Given the description of an element on the screen output the (x, y) to click on. 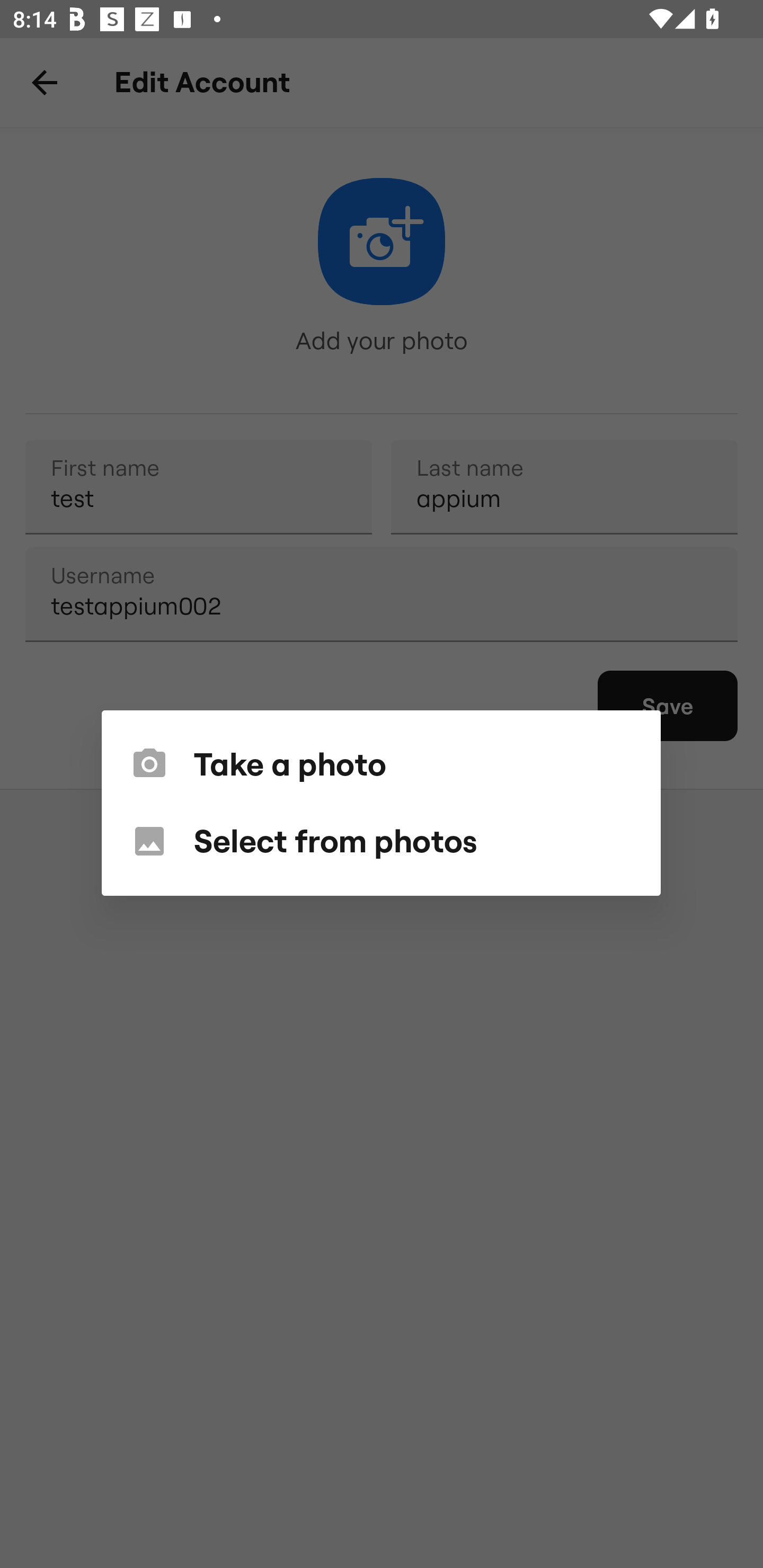
Take a photo (380, 763)
Select from photos (380, 840)
